Given the description of an element on the screen output the (x, y) to click on. 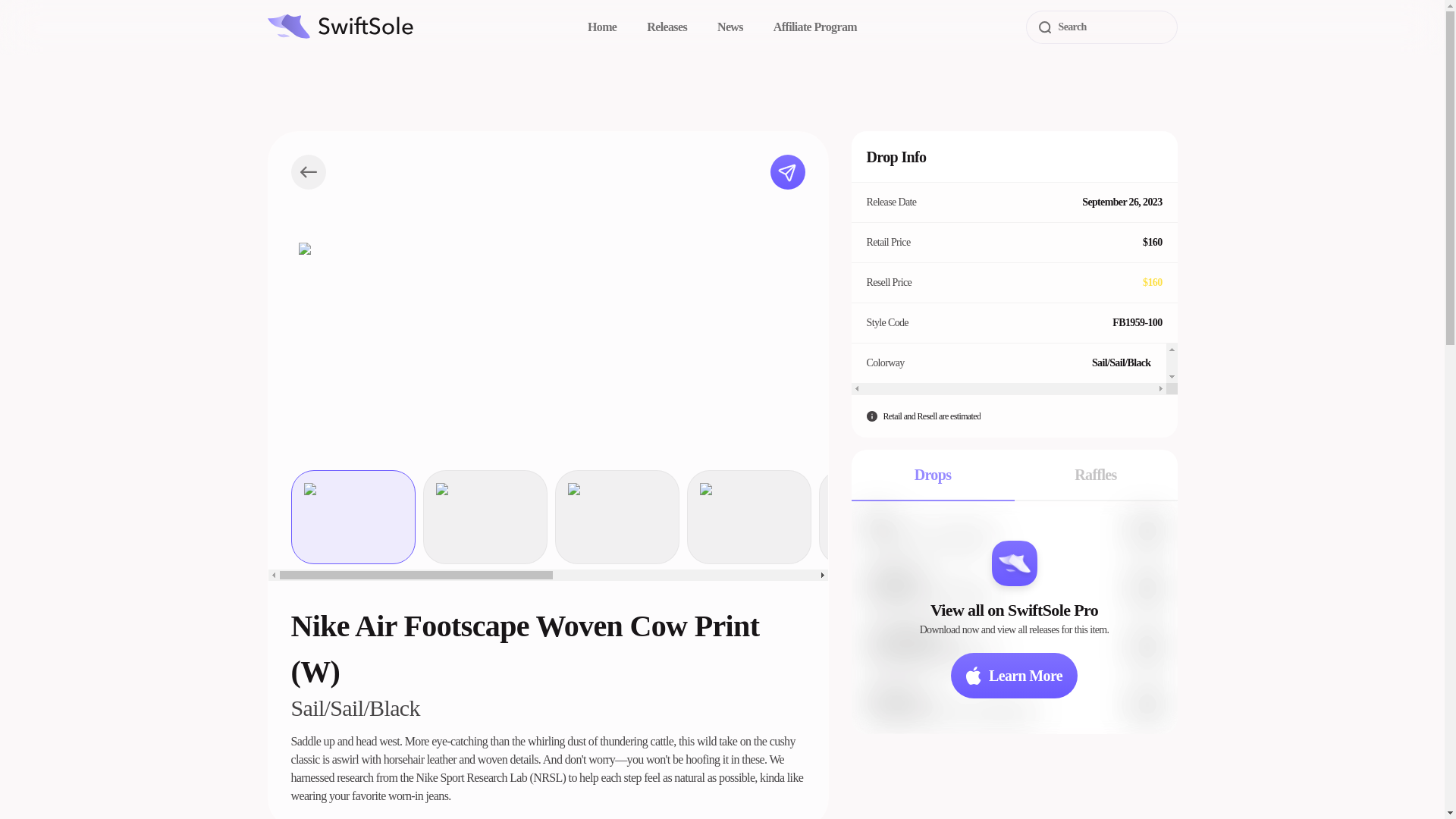
Drops (931, 475)
Releases (666, 26)
Learn More (1013, 675)
Search (1100, 27)
Home (601, 26)
Affiliate Program (815, 26)
Raffles (1095, 475)
News (729, 26)
